Given the description of an element on the screen output the (x, y) to click on. 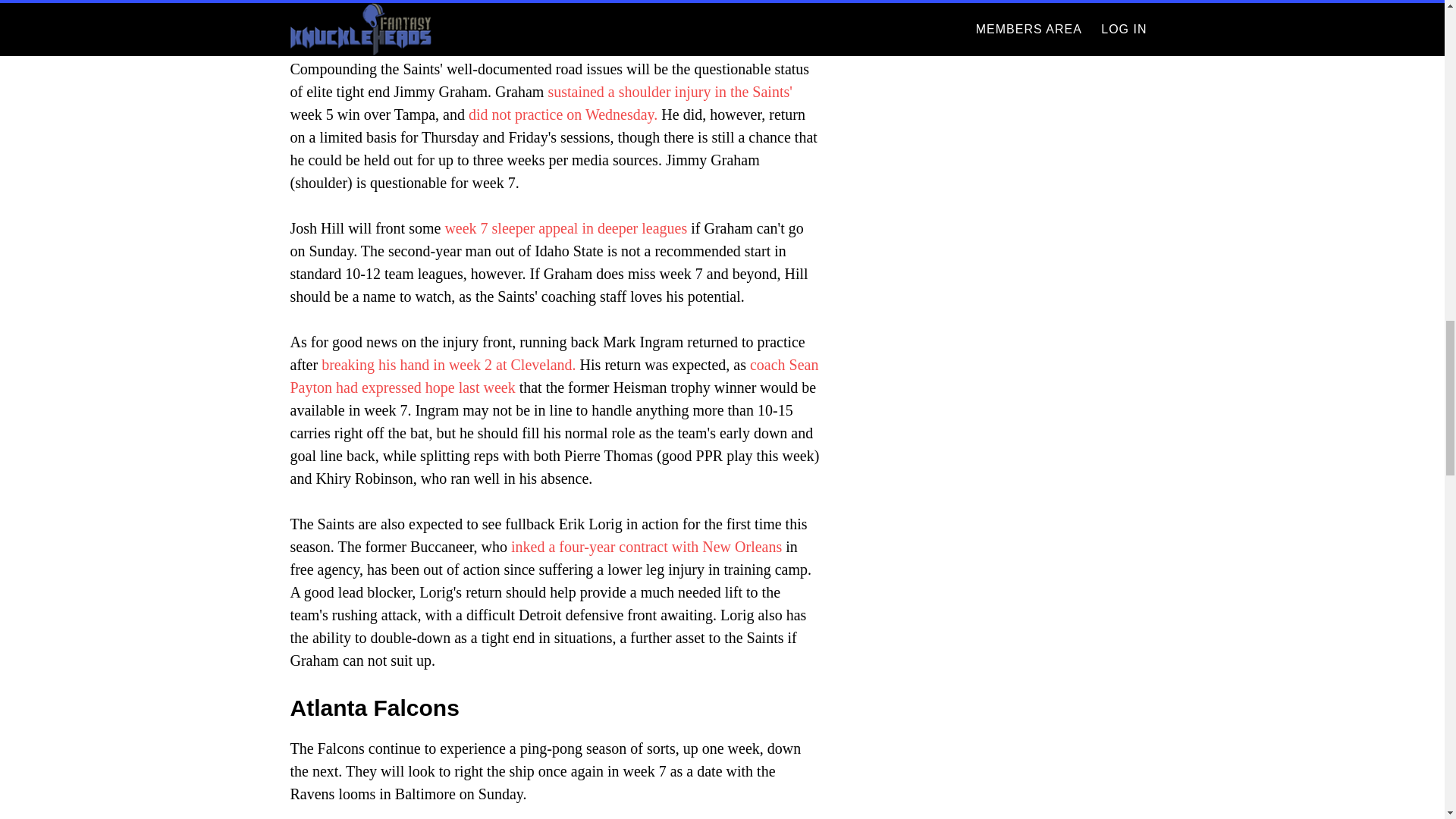
breaking his hand in week 2 at Cleveland. (448, 364)
Jimmy Graham Injury Not Thought To Be Serious (669, 91)
sustained a shoulder injury in the Saints' (669, 91)
did not practice on Wednesday. (563, 114)
Mark Ingram Out 1 Month, Khiry Robinson Next Man Up (448, 364)
inked a four-year contract with New Orleans (646, 546)
coach Sean Payton had expressed hope last week (553, 375)
Saints Add FB Erik Lorig On 4 Year Deal (646, 546)
Saints Hoping To Have Mark Ingram Back For Week 7 (553, 375)
